Given the description of an element on the screen output the (x, y) to click on. 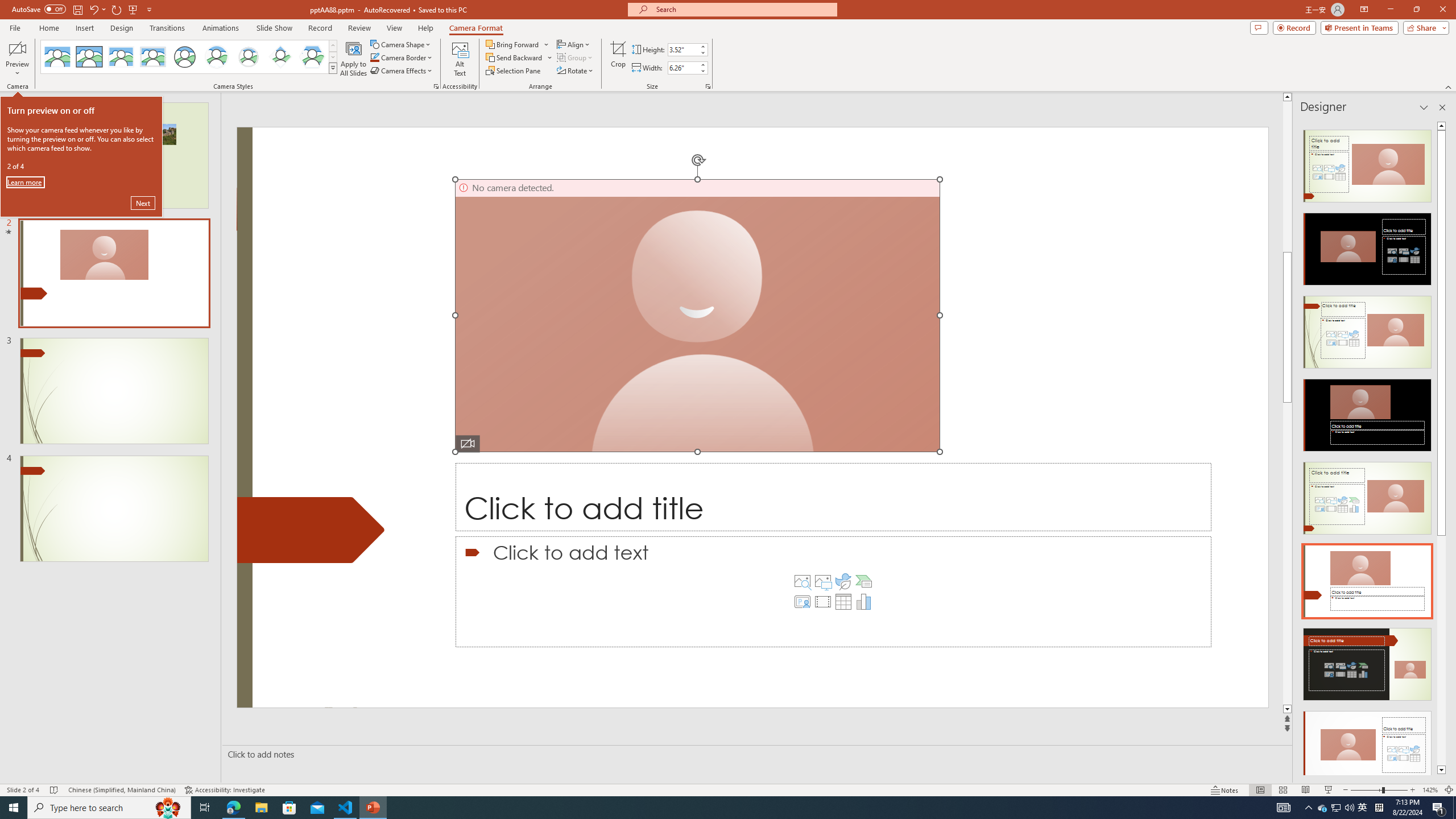
Send Backward (514, 56)
Learn more (25, 181)
Align (574, 44)
